Given the description of an element on the screen output the (x, y) to click on. 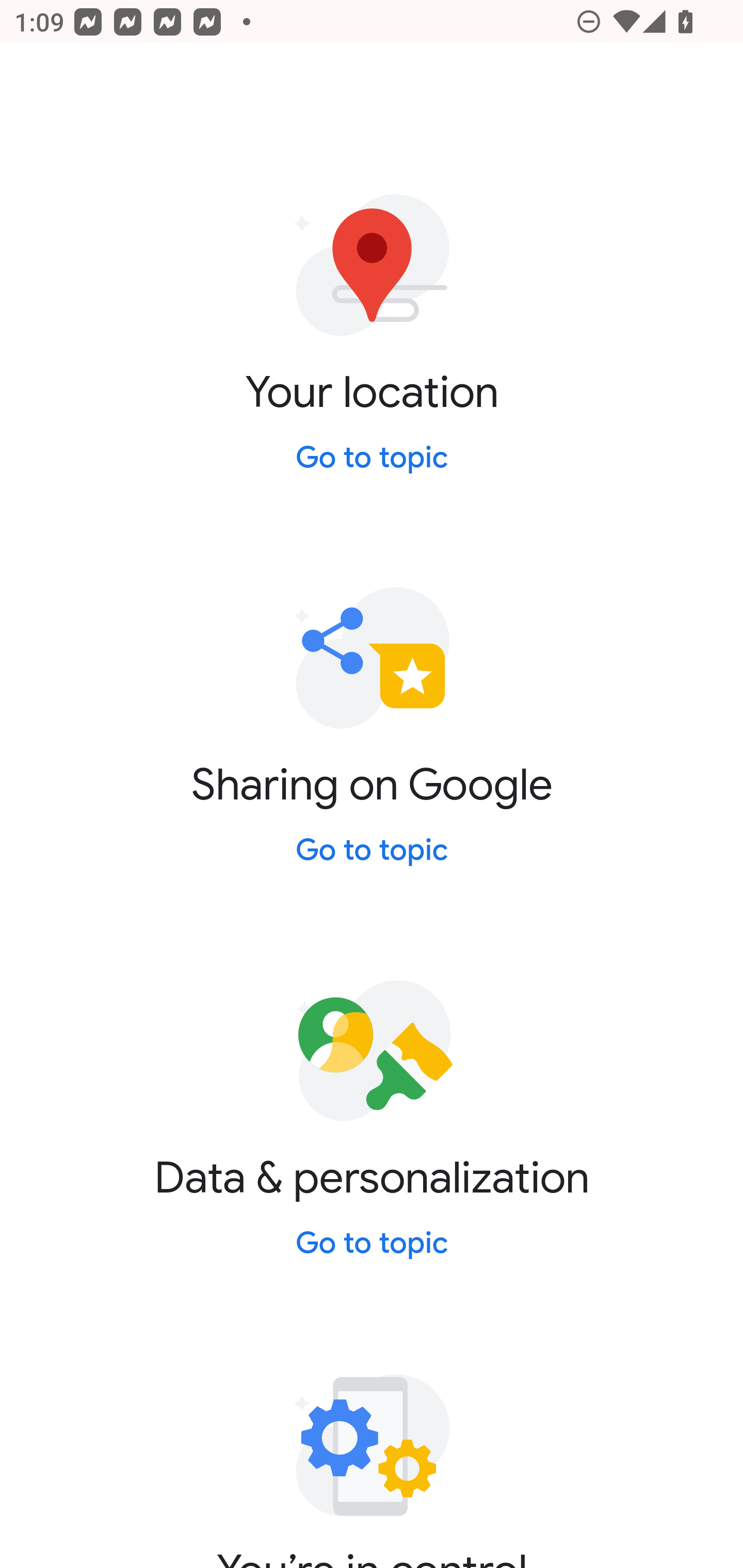
Go to topic - Your location Go to topic (371, 459)
Go to topic - Sharing on Google Go to topic (371, 852)
Go to topic - Data & personalization Go to topic (371, 1243)
